Given the description of an element on the screen output the (x, y) to click on. 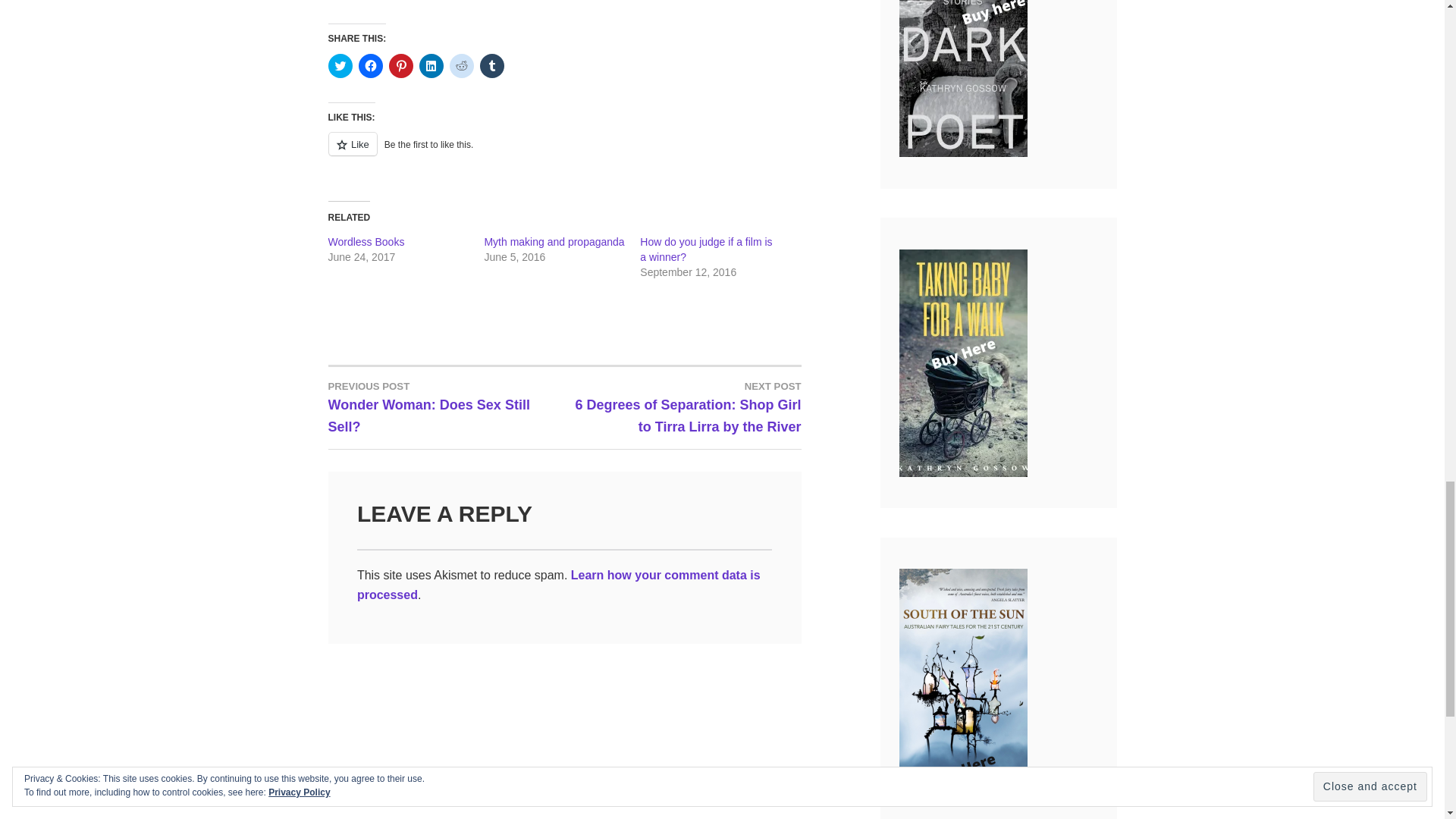
Myth making and propaganda (553, 241)
Like or Reblog (563, 152)
Myth making and propaganda (553, 241)
Click to share on LinkedIn (430, 65)
Wordless Books (365, 241)
How do you judge if a film is a winner? (445, 406)
Click to share on Pinterest (705, 248)
Click to share on Twitter (400, 65)
Click to share on Reddit (339, 65)
Click to share on Tumblr (460, 65)
Wordless Books (491, 65)
Learn how your comment data is processed (365, 241)
How do you judge if a film is a winner? (558, 584)
Click to share on Facebook (705, 248)
